Given the description of an element on the screen output the (x, y) to click on. 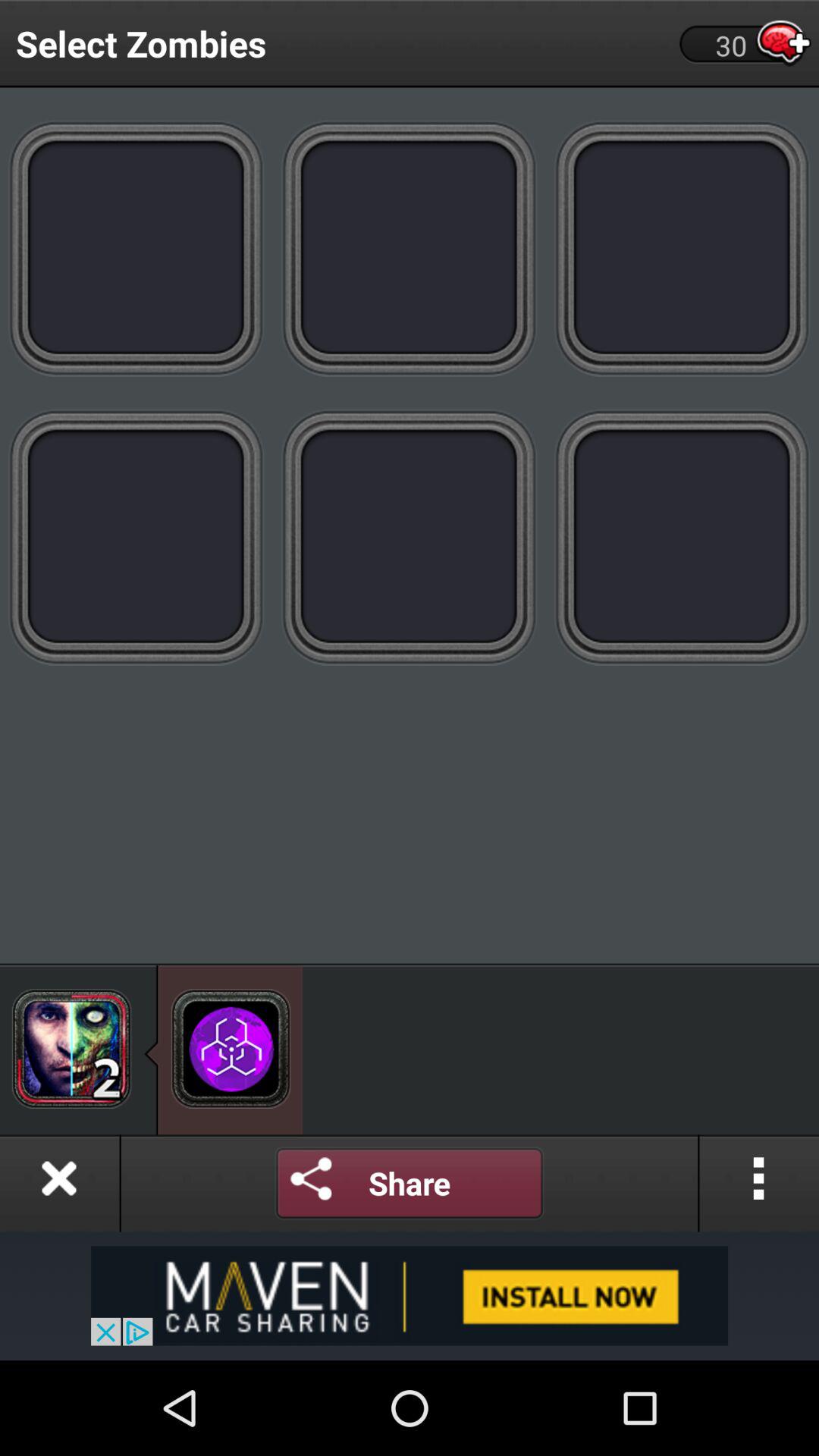
image screen (136, 247)
